Given the description of an element on the screen output the (x, y) to click on. 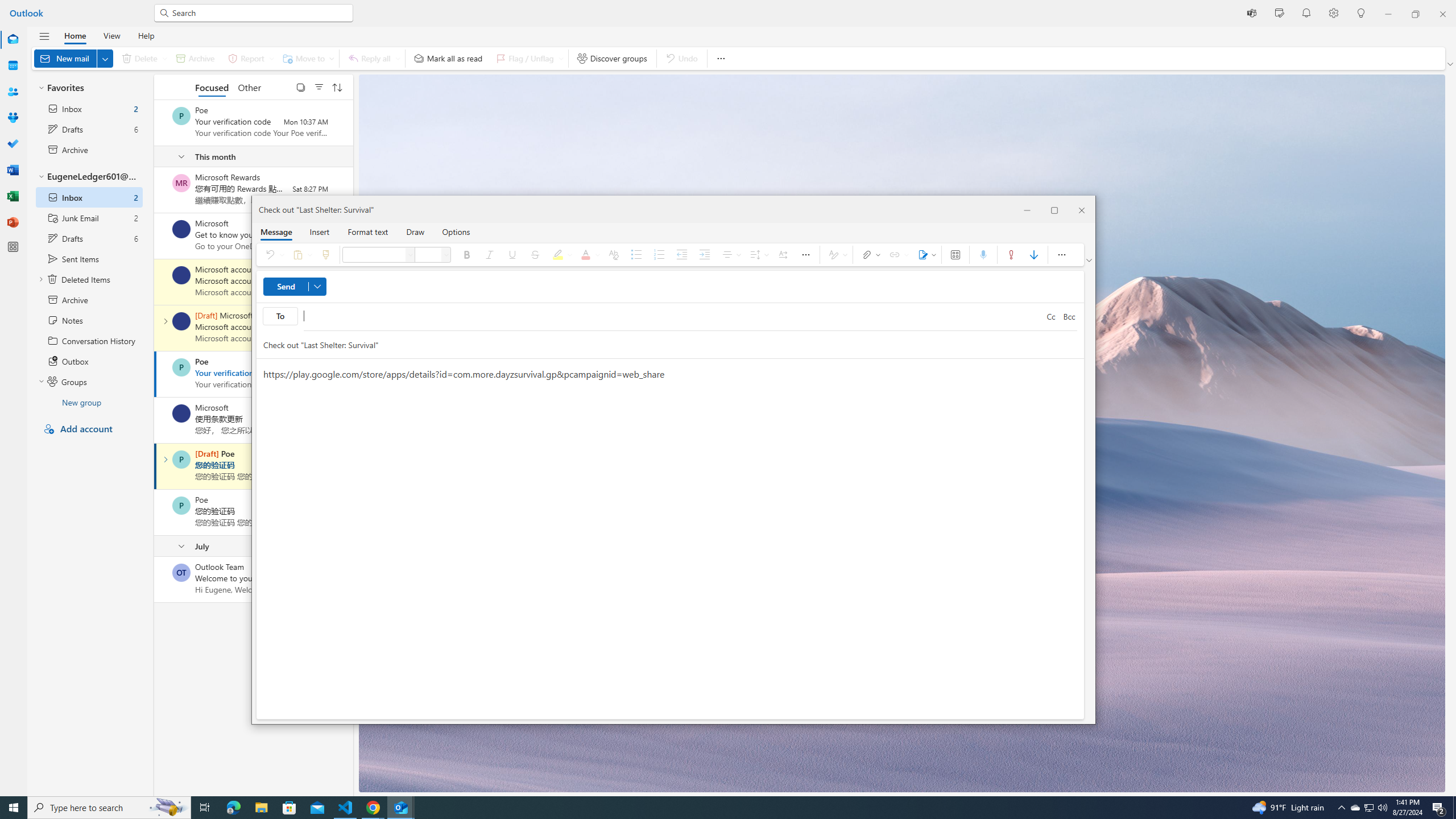
Mark as read (154, 465)
PowerPoint (12, 222)
Increase indent (704, 254)
Home (74, 35)
New mail (73, 58)
Archive (194, 58)
Hide navigation pane (44, 36)
Action Center, 2 new notifications (1439, 807)
Expand to see flag options (561, 58)
Mark all as read (448, 58)
Start (13, 807)
Sorted: By Date (336, 86)
Select (300, 86)
Word (12, 170)
Message body, press Alt+F10 to exit (670, 538)
